Given the description of an element on the screen output the (x, y) to click on. 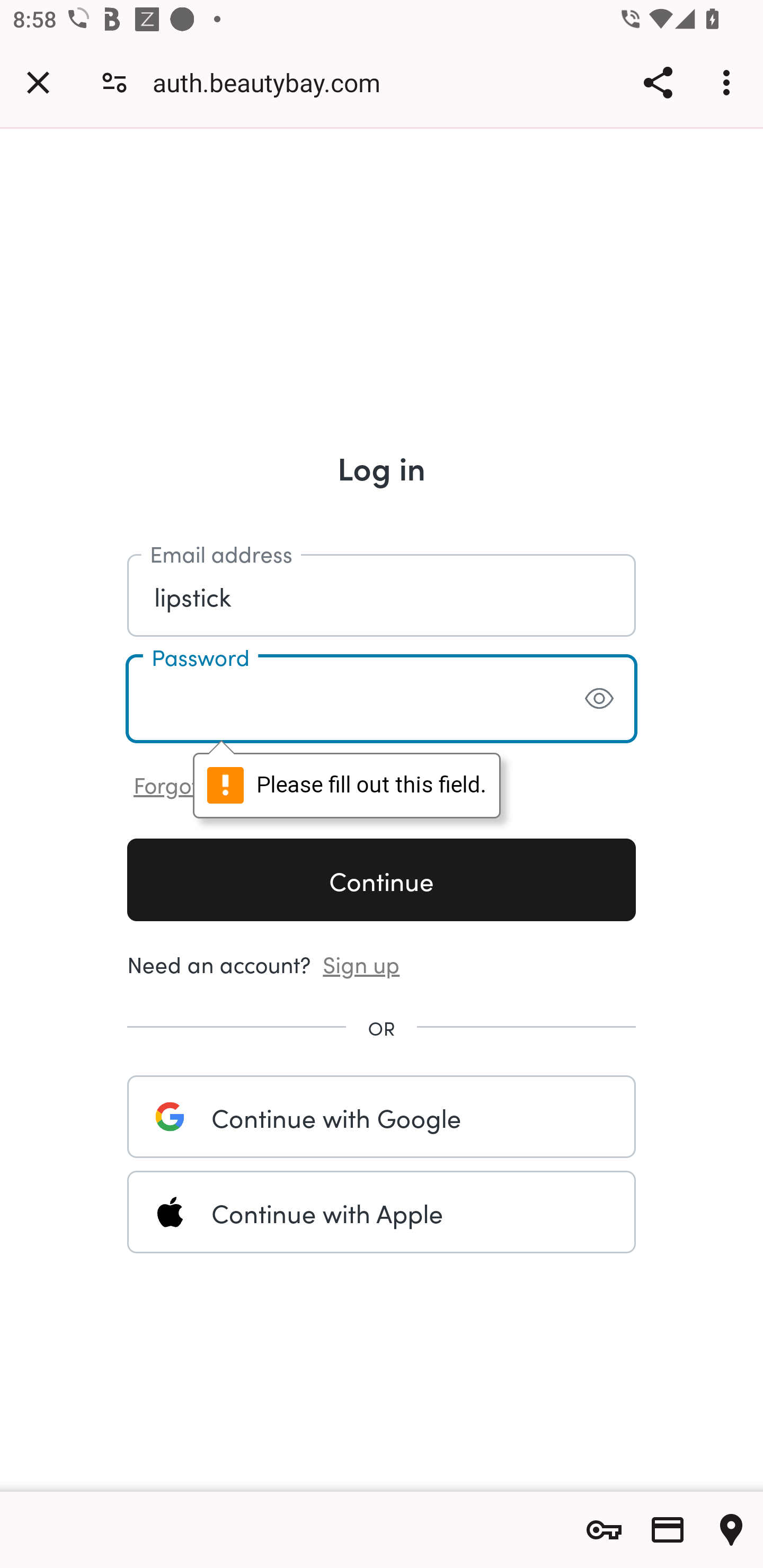
Close tab (38, 82)
Share (657, 82)
Customize and control Google Chrome (729, 82)
Connection is secure (114, 81)
auth.beautybay.com (272, 81)
lipstick (381, 594)
Show password (599, 698)
Continue (381, 879)
Sign up (361, 962)
Continue with Google (381, 1116)
Continue with Apple (381, 1211)
Show saved passwords and password options (603, 1530)
Show saved payment methods (667, 1530)
Show saved addresses (731, 1530)
